Given the description of an element on the screen output the (x, y) to click on. 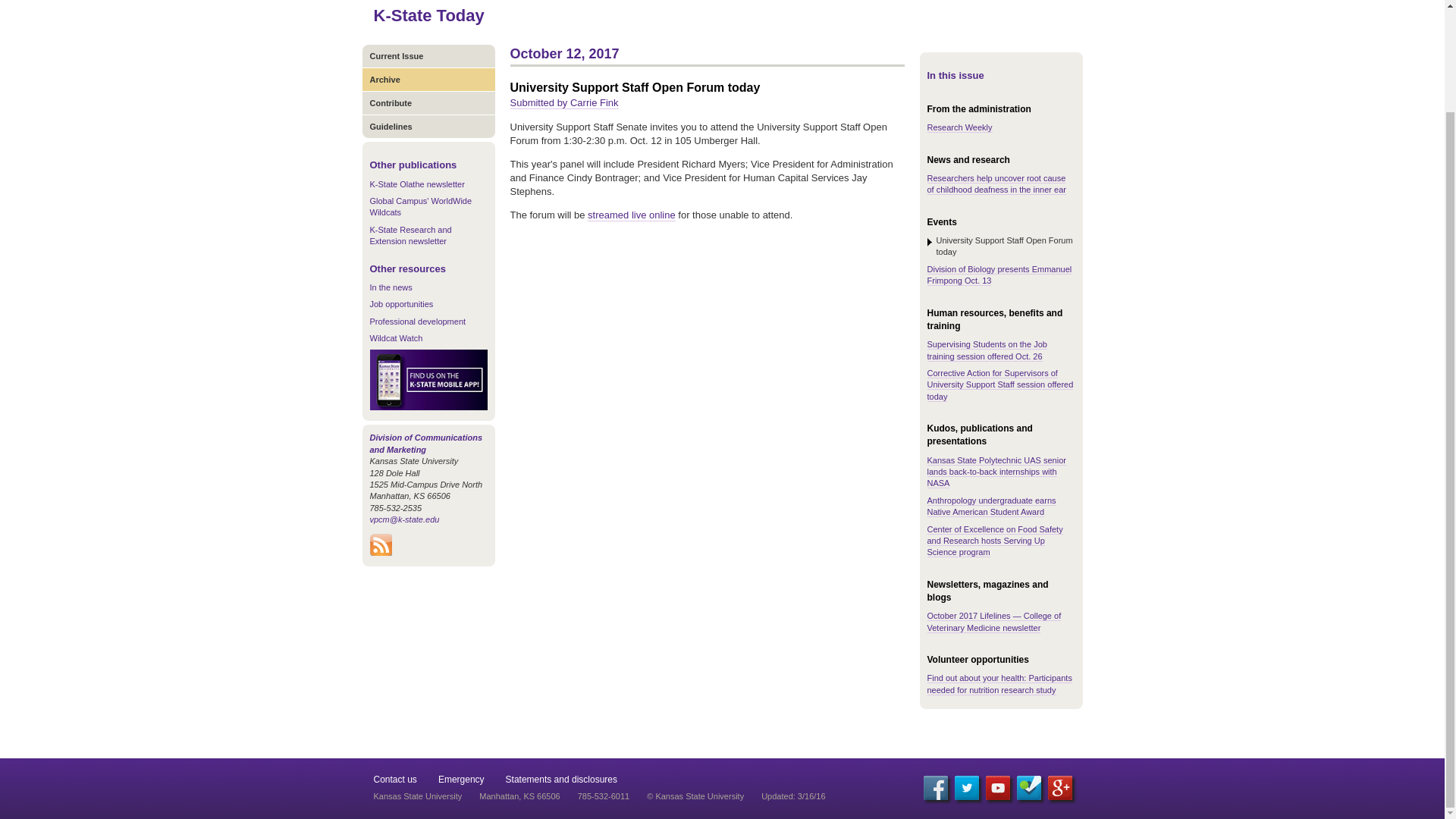
Google Plus (1059, 787)
Contribute (428, 102)
Twitter (965, 787)
streamed live online (631, 215)
Archive (428, 78)
Submitted by Carrie Fink (563, 102)
Division of Communications and Marketing (426, 443)
Division of Biology presents Emmanuel Frimpong Oct. 13 (998, 274)
Research Weekly (958, 127)
